Given the description of an element on the screen output the (x, y) to click on. 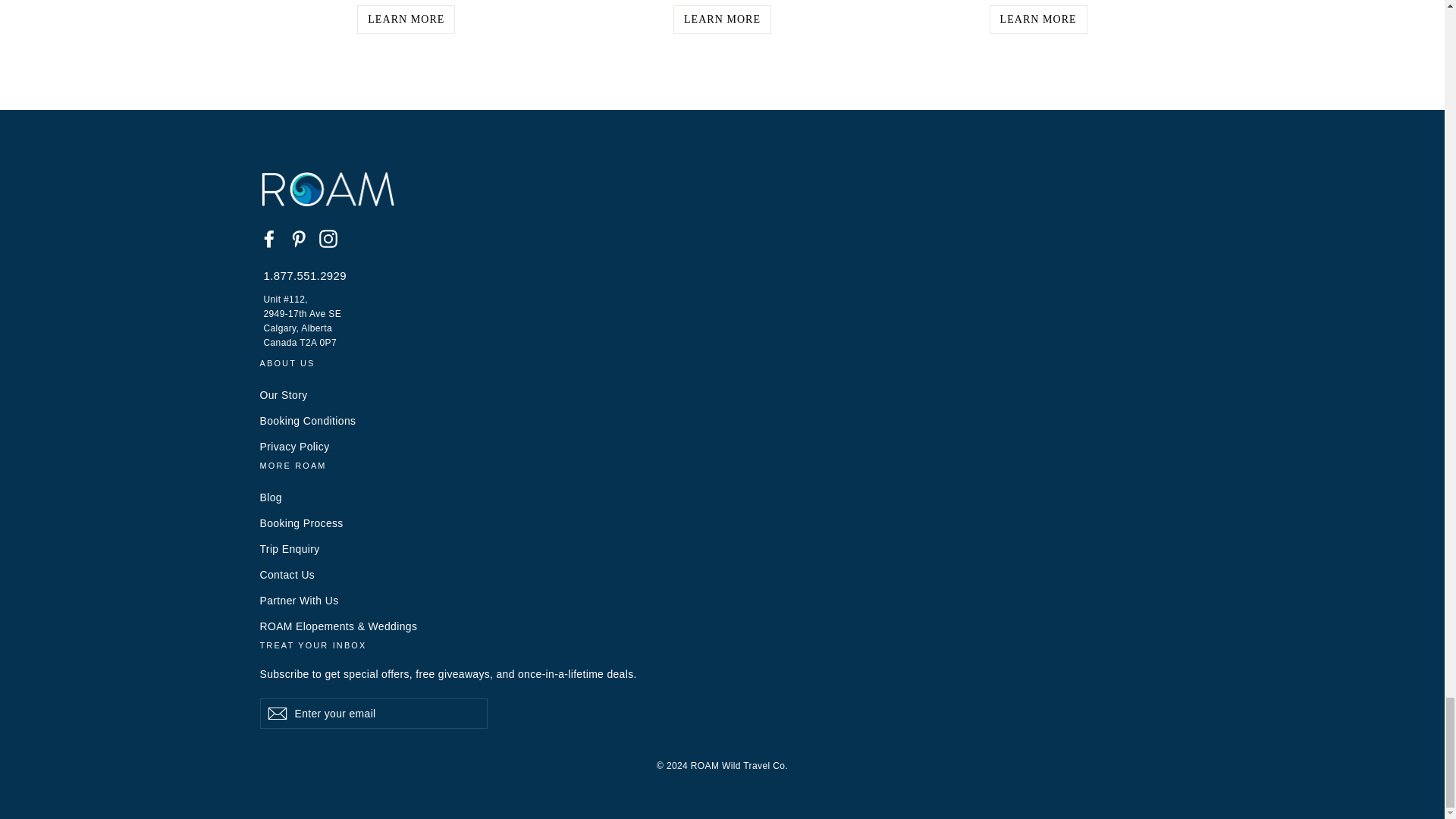
ROAM Wild Travel Co. on Facebook (268, 238)
ROAM Wild Travel Co. on Pinterest (298, 238)
ROAM Wild Travel Co. on Instagram (327, 238)
